Given the description of an element on the screen output the (x, y) to click on. 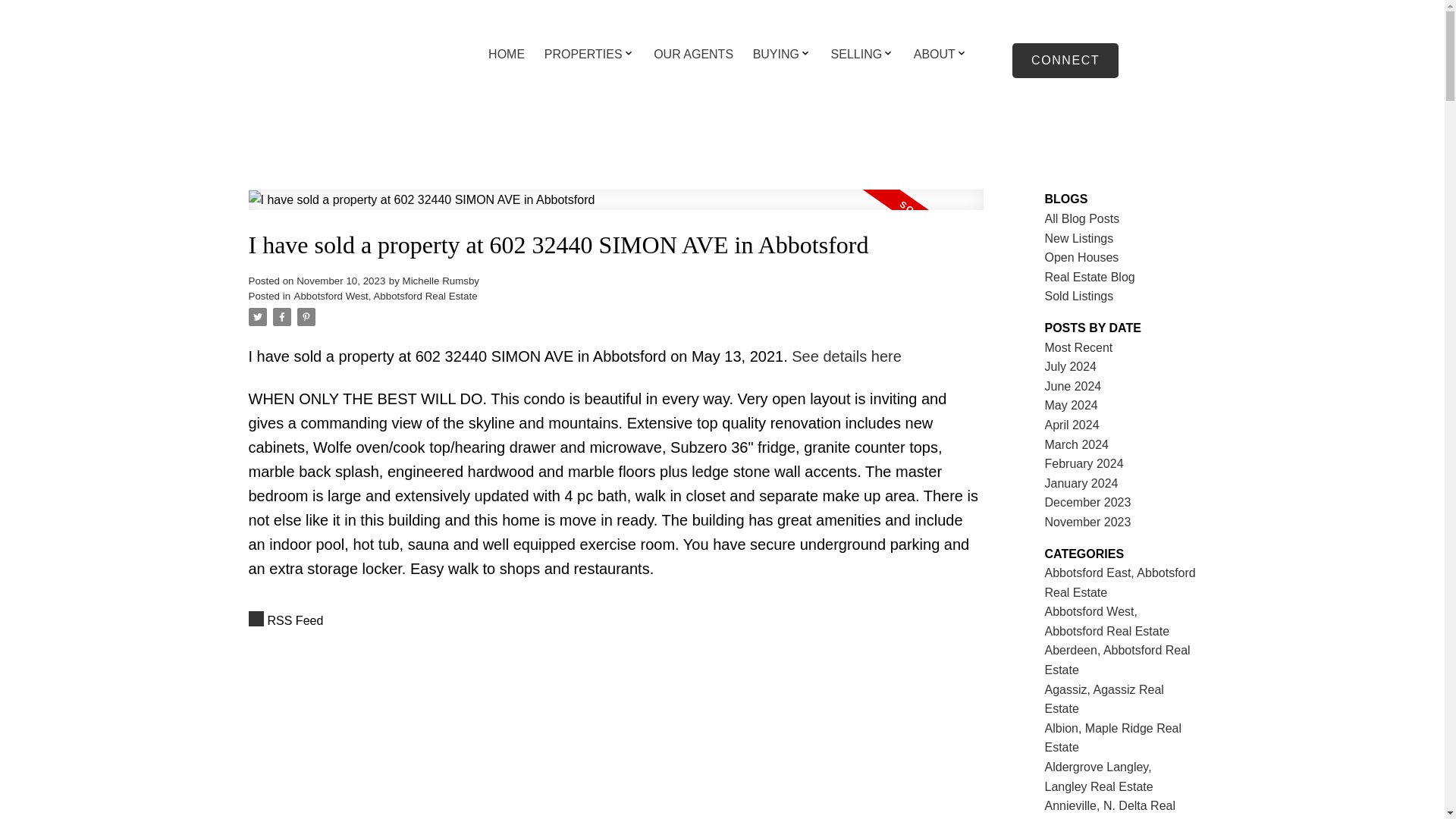
HOME (505, 55)
PROPERTIES (583, 55)
RSS (616, 620)
SELLING (856, 55)
BUYING (775, 55)
Abbotsford West, Abbotsford Real Estate (385, 296)
OUR AGENTS (693, 55)
CONNECT (1064, 60)
ABOUT (934, 55)
